Given the description of an element on the screen output the (x, y) to click on. 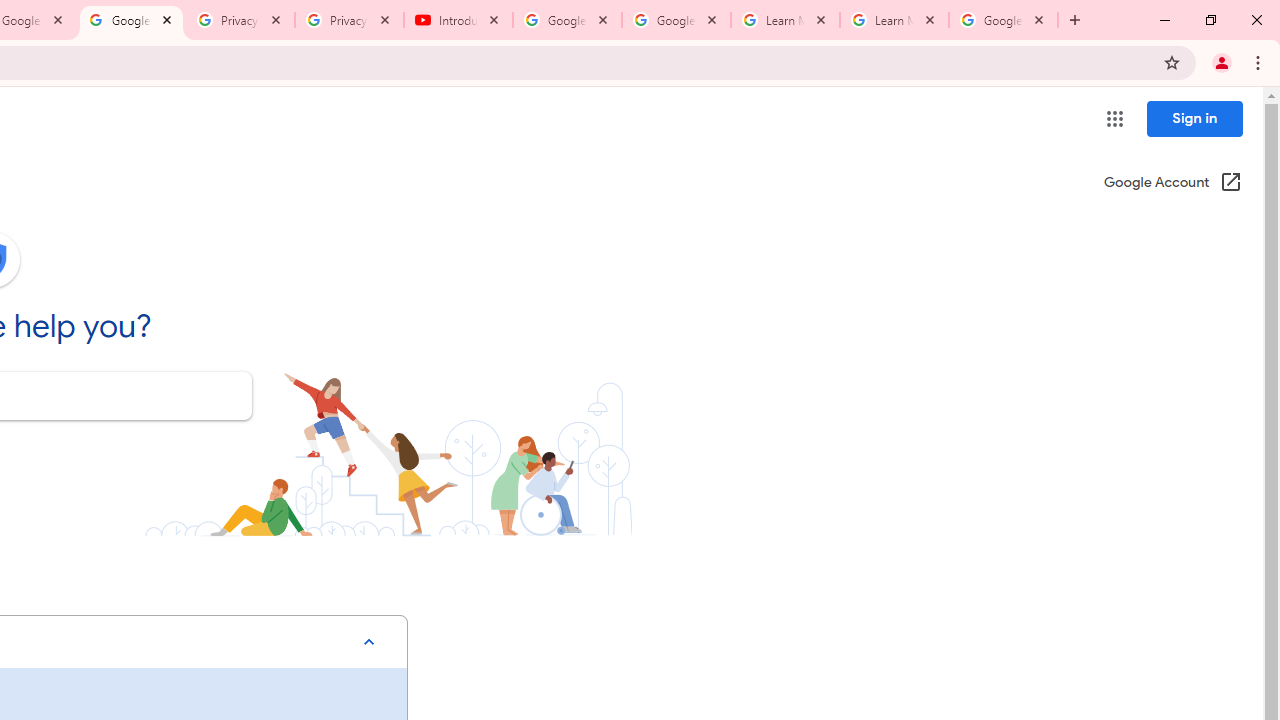
Google Account (1003, 20)
Google Account Help (676, 20)
Google Account Help (567, 20)
